Given the description of an element on the screen output the (x, y) to click on. 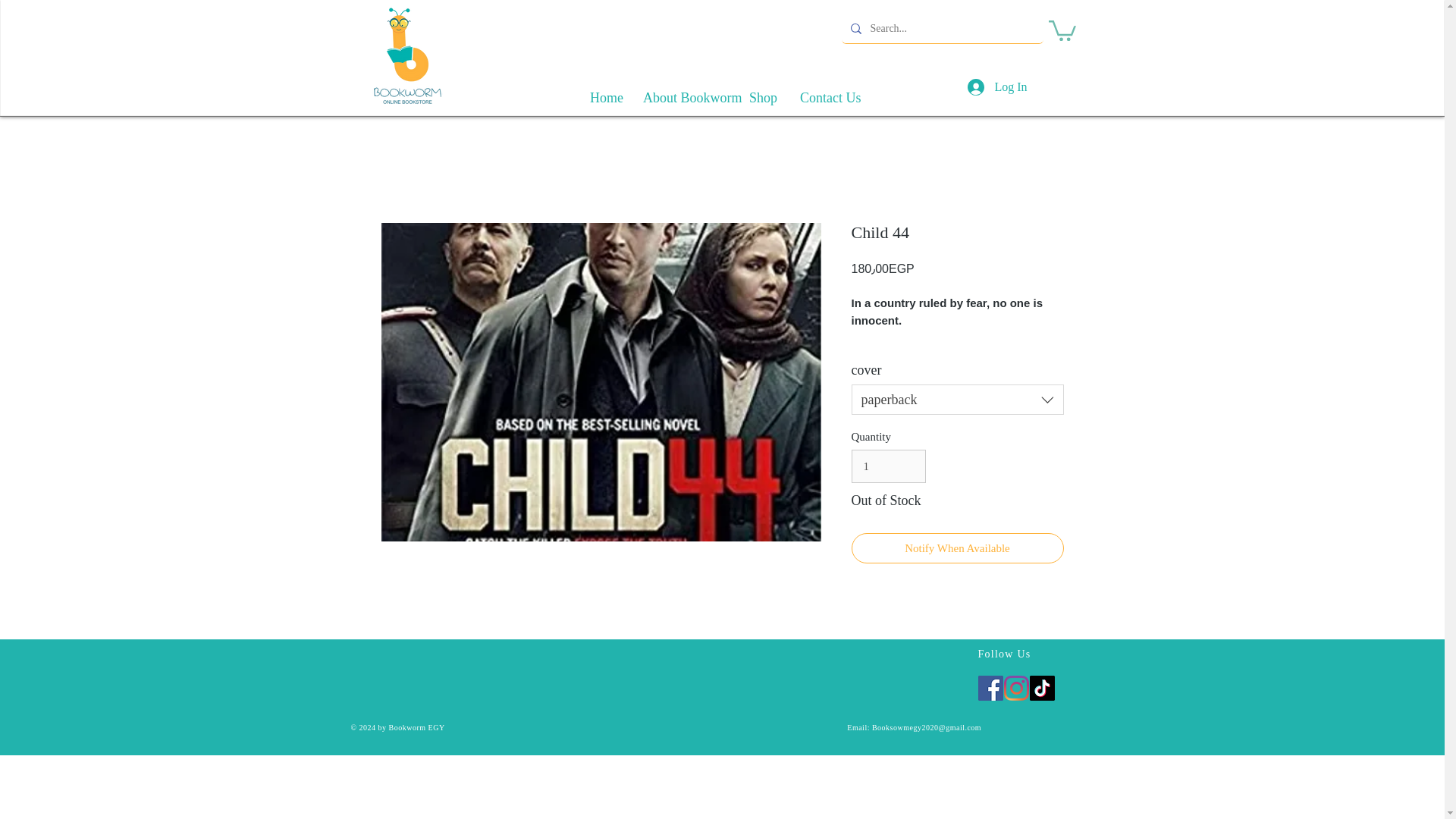
Notify When Available (956, 548)
About Bookworm (681, 91)
1 (887, 466)
paperback (956, 399)
Log In (987, 86)
Follow Us (1004, 654)
Shop (760, 91)
Home (602, 91)
Contact Us (826, 91)
